Given the description of an element on the screen output the (x, y) to click on. 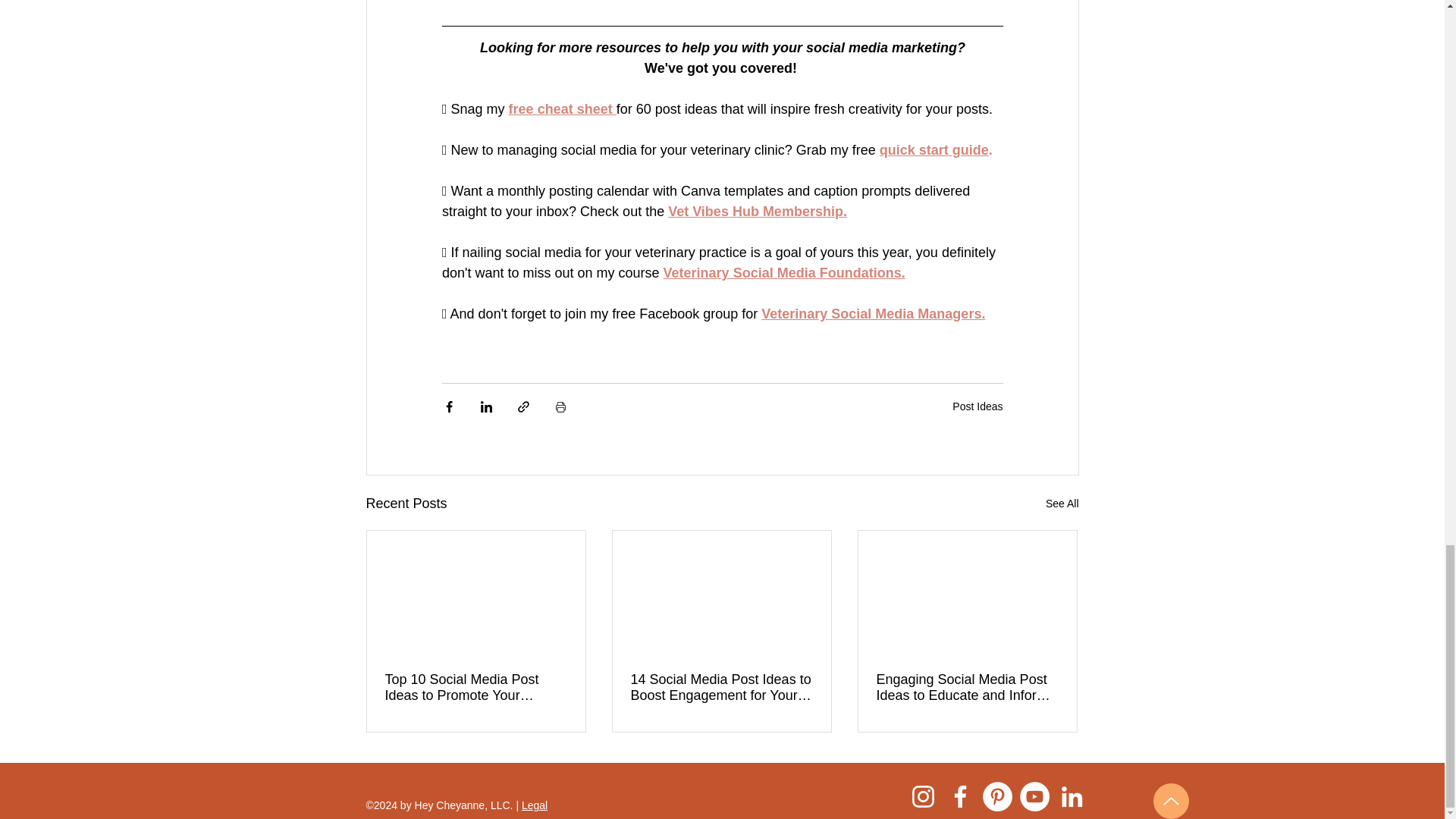
ns (893, 272)
Post Ideas (977, 406)
de (980, 150)
Veterinary Social Media Manager (867, 313)
See All (1061, 504)
Veterinary Social Media Foundatio (773, 272)
Vet Vibes Hub Membershi (751, 211)
free cheat sheet  (561, 109)
quick start gui (925, 150)
